Given the description of an element on the screen output the (x, y) to click on. 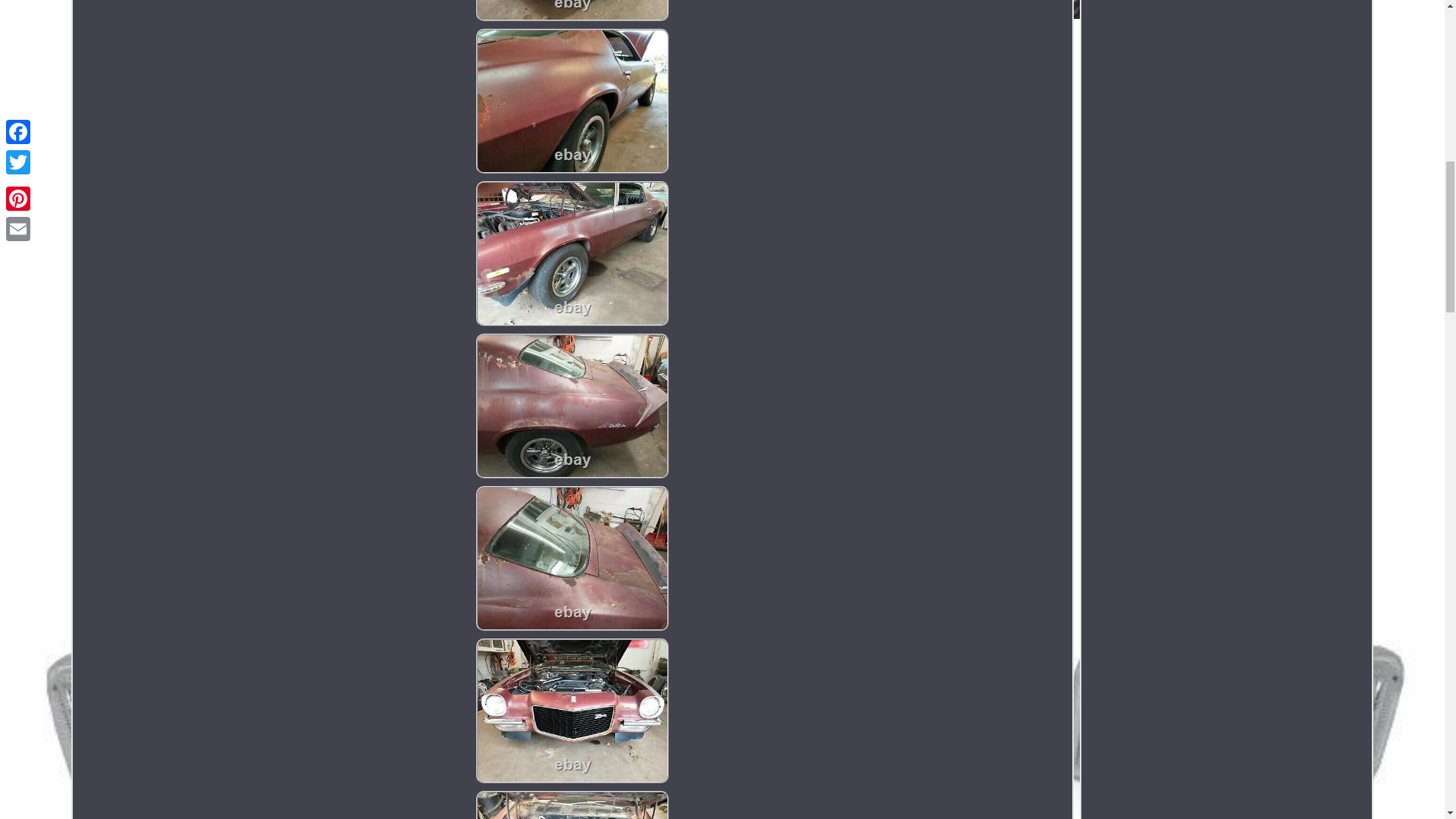
1971 Chevrolet Camaro (572, 252)
1971 Chevrolet Camaro (572, 805)
1971 Chevrolet Camaro (572, 710)
1971 Chevrolet Camaro (572, 405)
1971 Chevrolet Camaro (572, 558)
1971 Chevrolet Camaro (572, 100)
1971 Chevrolet Camaro (572, 10)
